Given the description of an element on the screen output the (x, y) to click on. 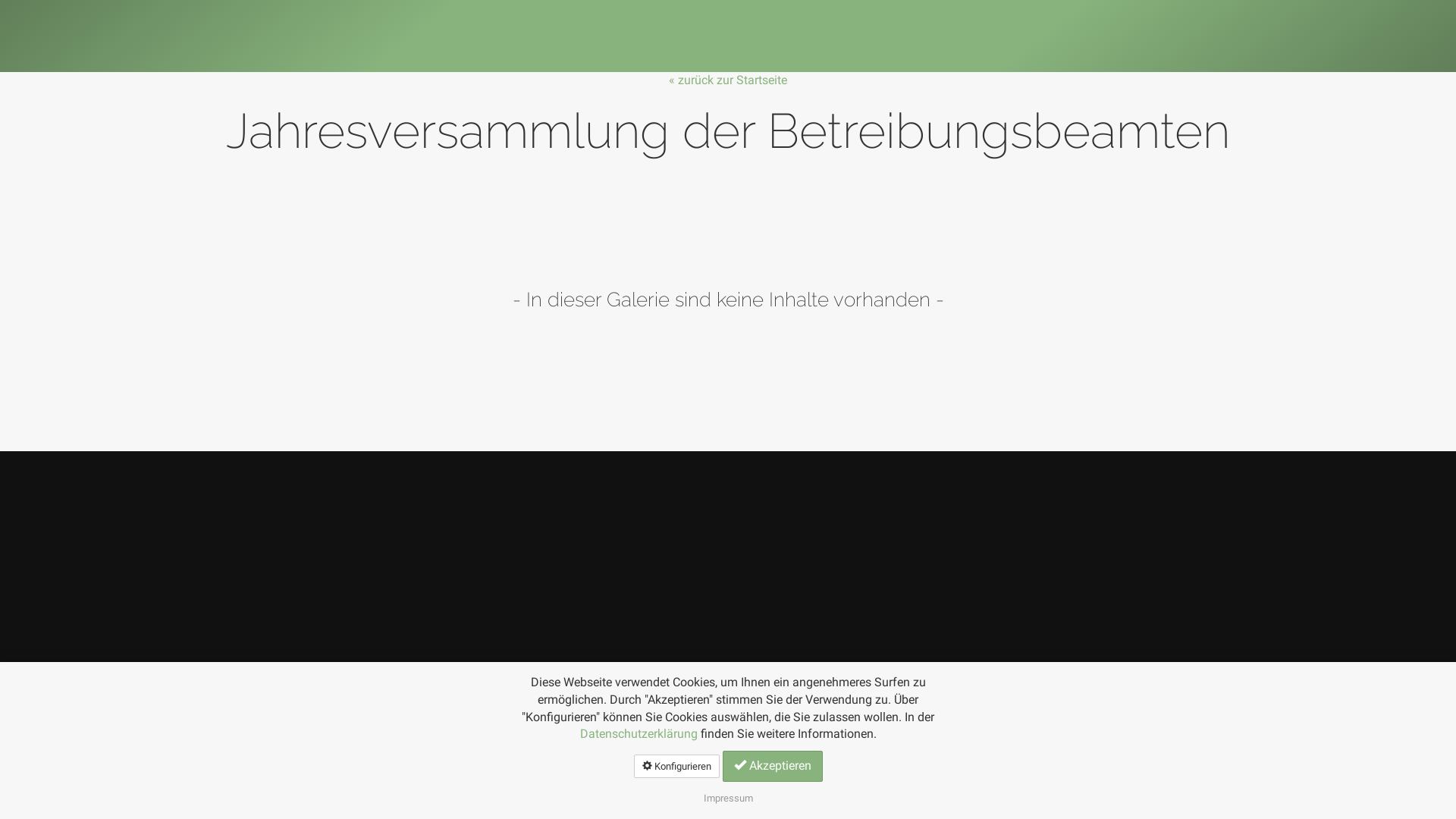
Akzeptieren Element type: text (771, 765)
Impressum Element type: text (728, 797)
Konfigurieren Element type: text (676, 766)
